Given the description of an element on the screen output the (x, y) to click on. 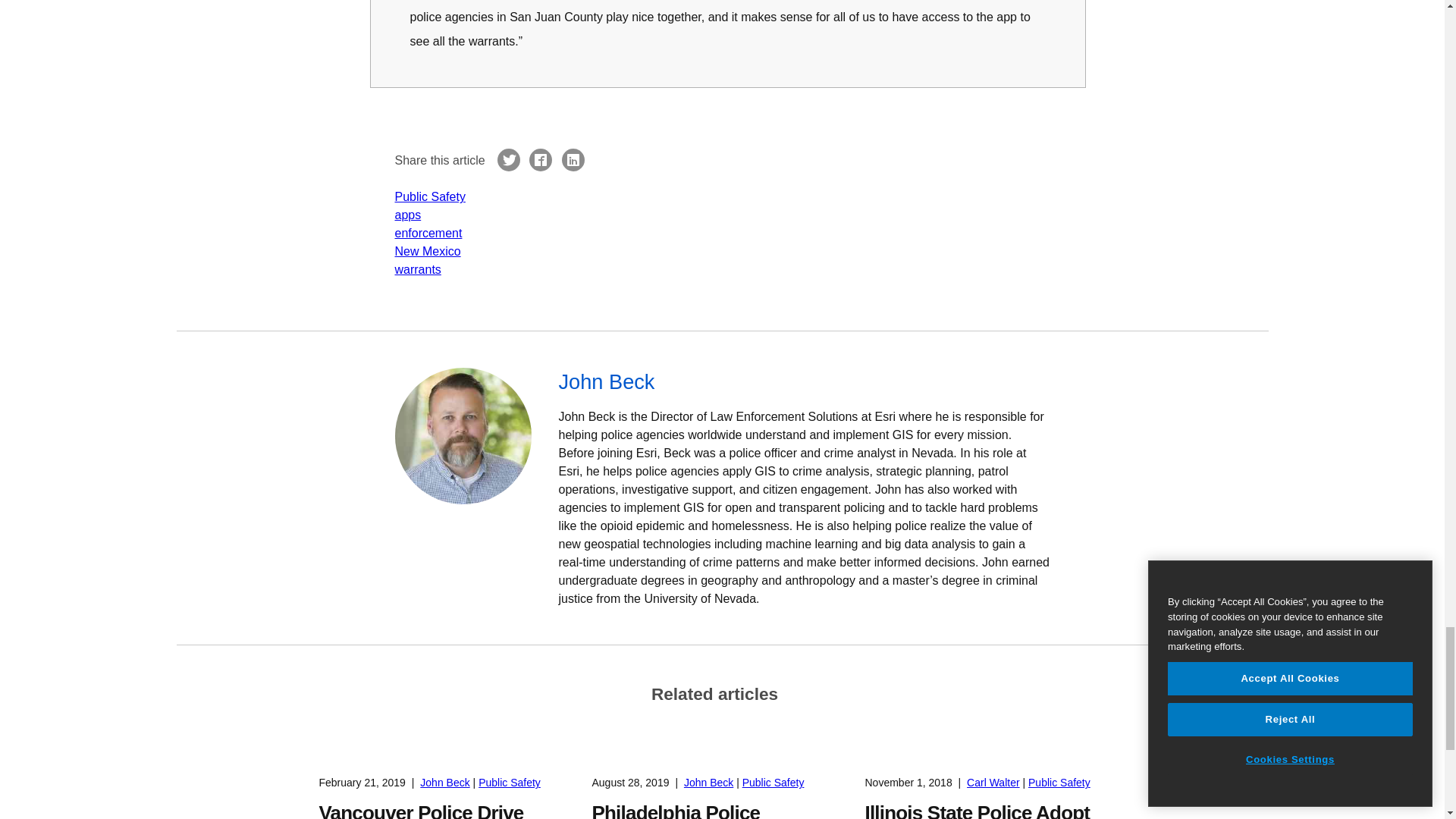
John Beck (803, 381)
